Given the description of an element on the screen output the (x, y) to click on. 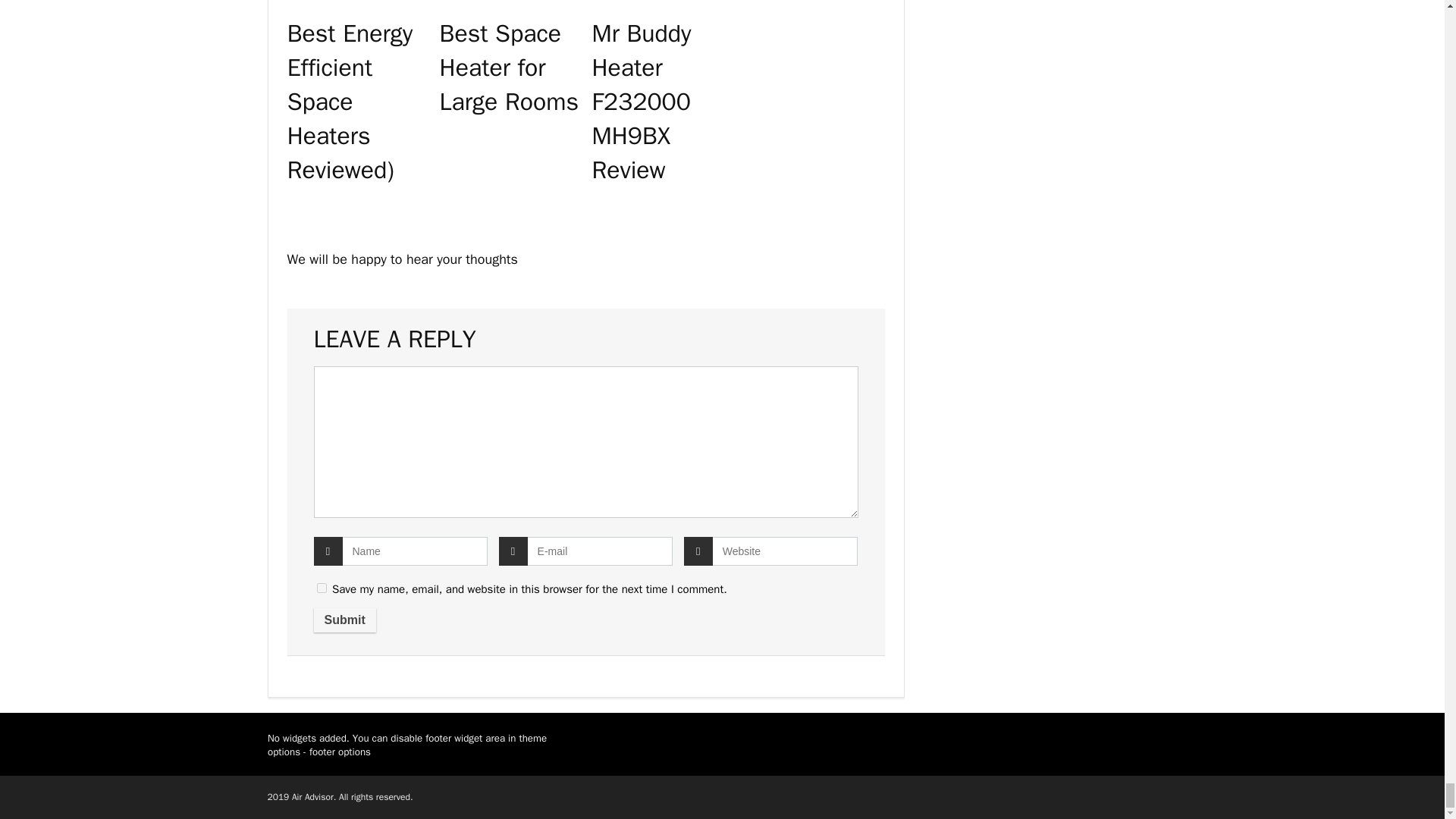
yes (321, 587)
Submit (344, 620)
